Given the description of an element on the screen output the (x, y) to click on. 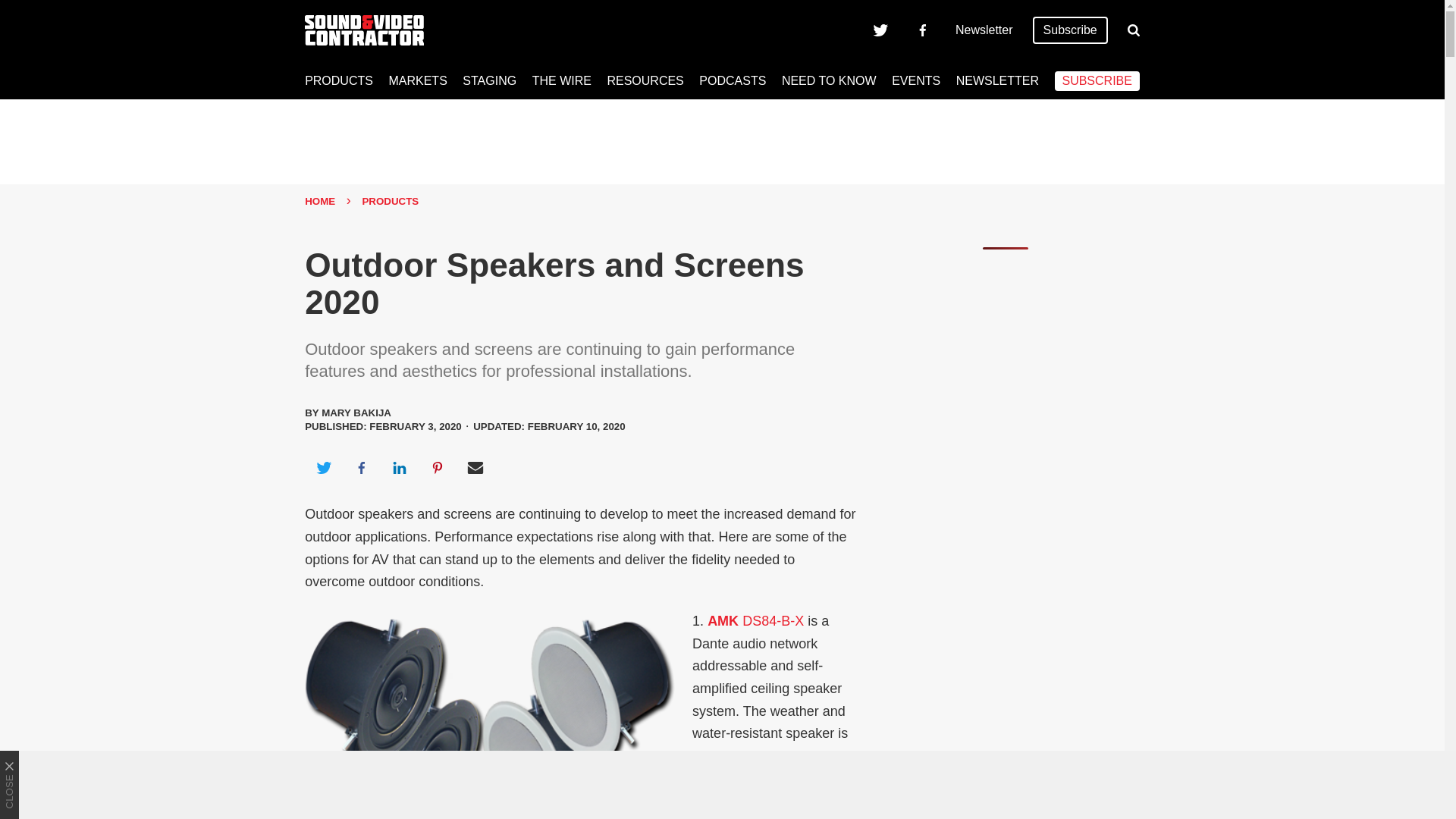
Share on LinkedIn (399, 467)
Share via Email (476, 467)
Share on Facebook (361, 467)
Share on Pinterest (438, 467)
Share on Twitter (323, 467)
